Given the description of an element on the screen output the (x, y) to click on. 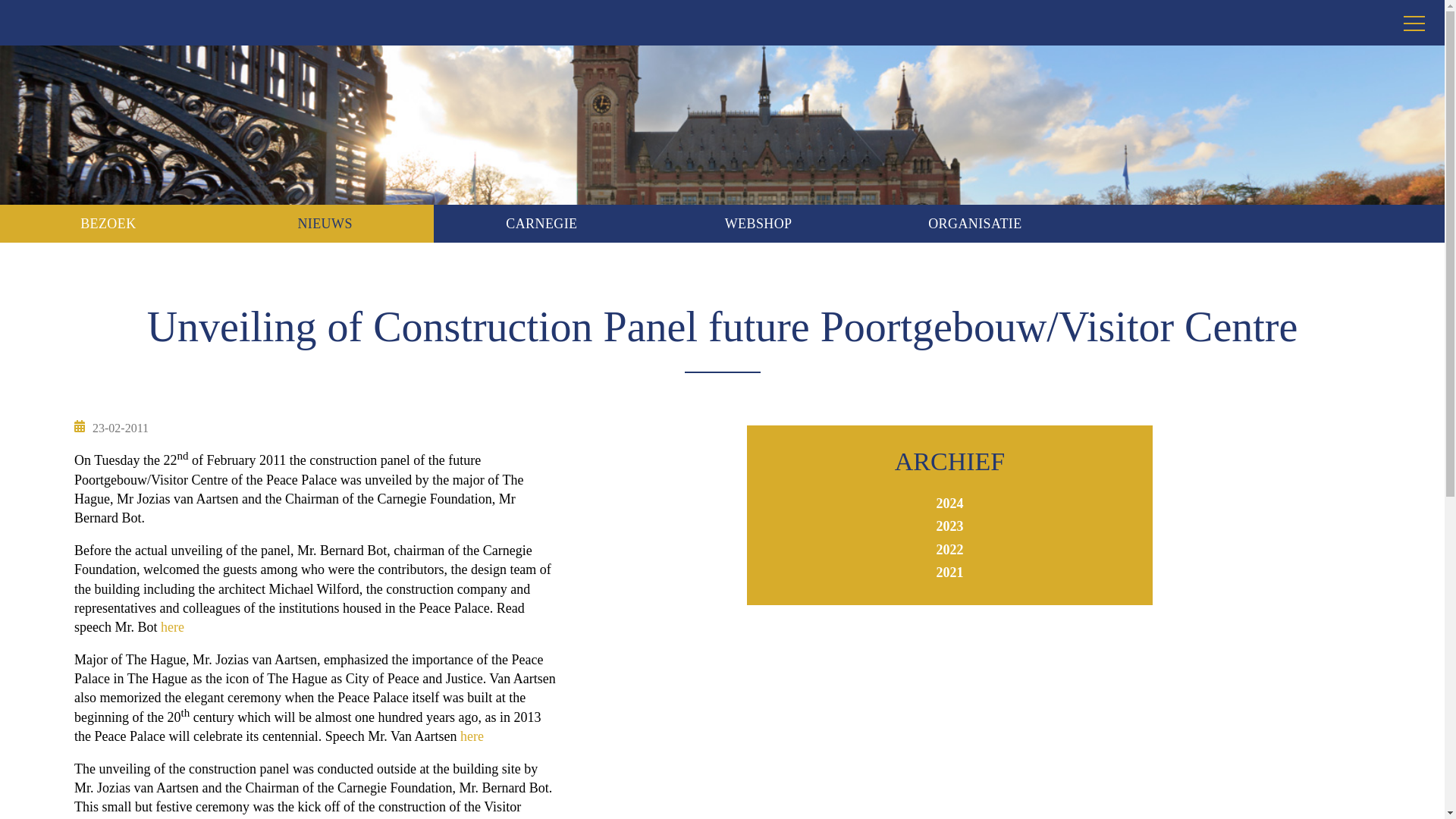
here (471, 735)
here (172, 626)
